Given the description of an element on the screen output the (x, y) to click on. 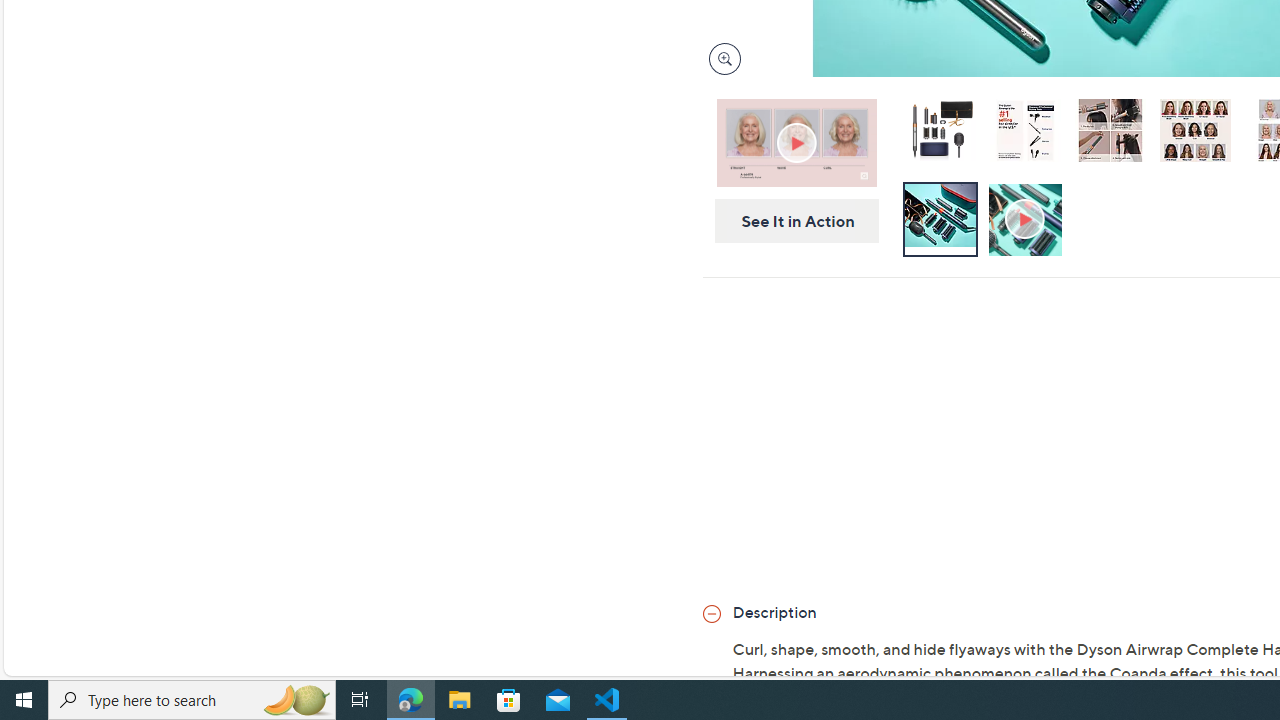
Microsoft Store (509, 699)
File Explorer (460, 699)
On-Air Presentation (795, 142)
Microsoft Edge - 1 running window (411, 699)
Start (24, 699)
